Given the description of an element on the screen output the (x, y) to click on. 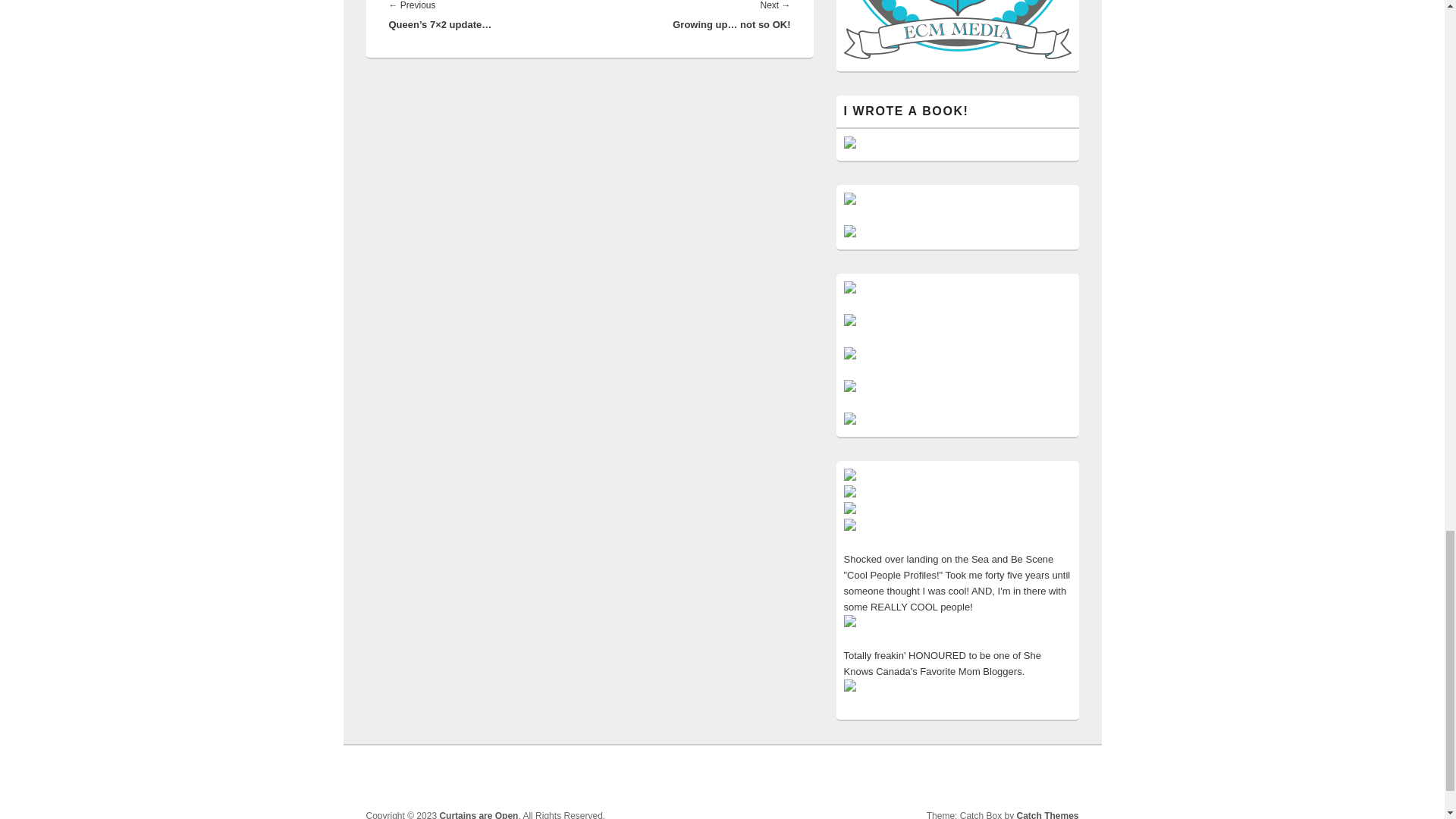
Catch Themes (1047, 814)
Curtains are Open (478, 814)
Ninjamatics' 2012 Canadian Weblog Awards (849, 510)
